Given the description of an element on the screen output the (x, y) to click on. 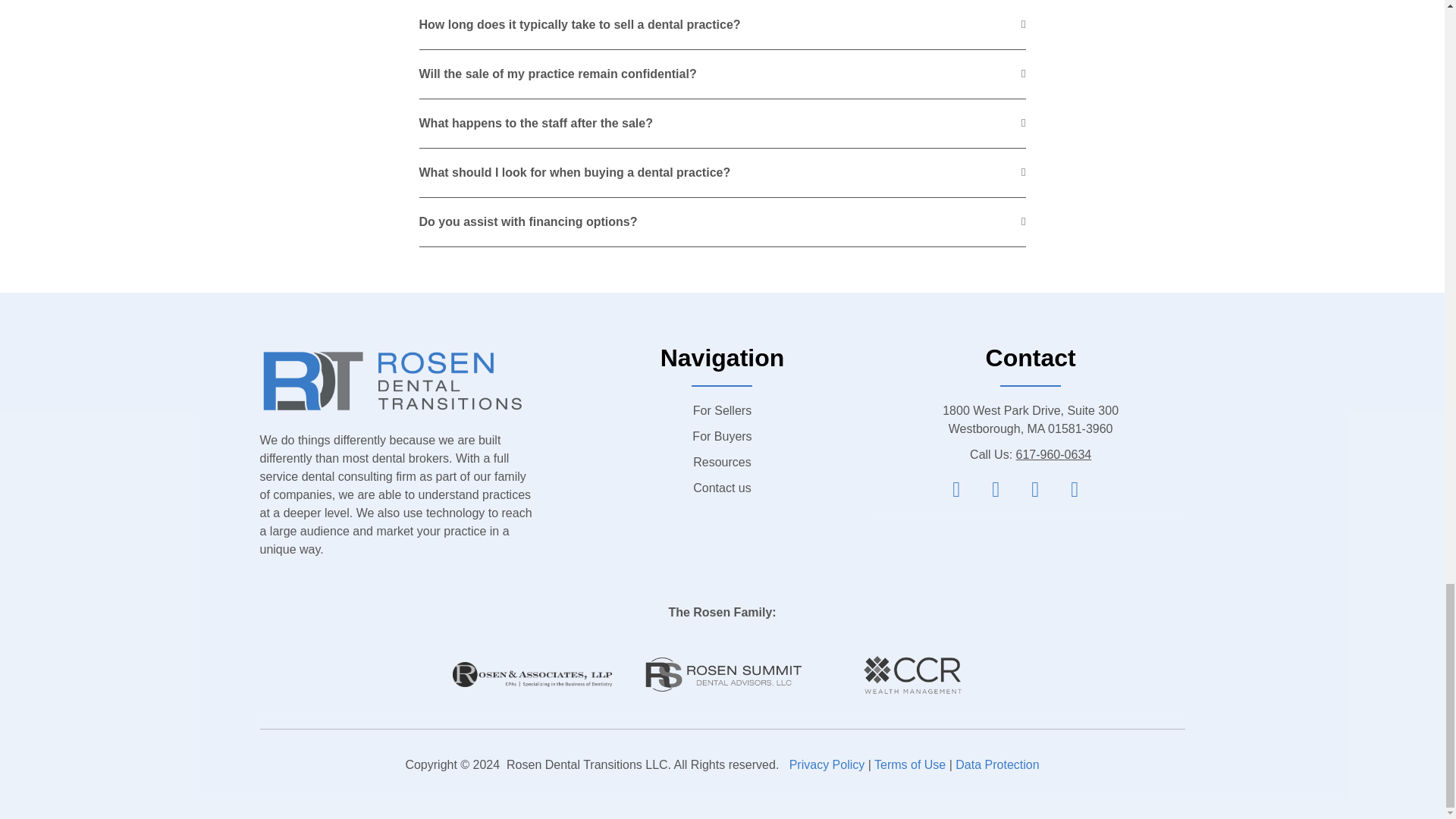
Resources (721, 462)
Contact us (721, 488)
For Buyers (721, 436)
Terms of Use (909, 764)
Call Us: 617-960-0634 (1030, 454)
For Sellers (721, 411)
Privacy Policy (826, 764)
Data Protection (997, 764)
